Given the description of an element on the screen output the (x, y) to click on. 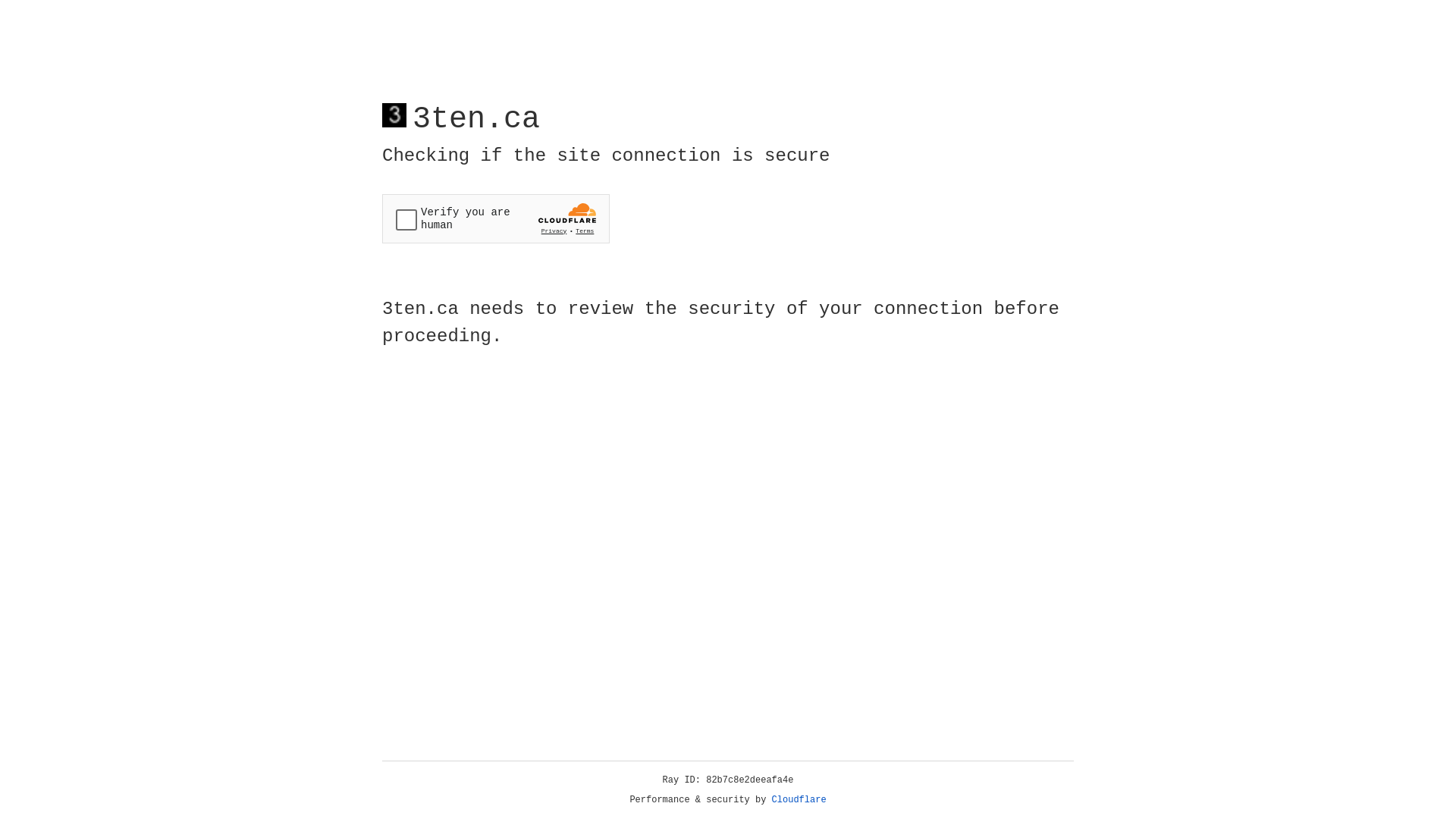
Widget containing a Cloudflare security challenge Element type: hover (495, 218)
Cloudflare Element type: text (798, 799)
